Given the description of an element on the screen output the (x, y) to click on. 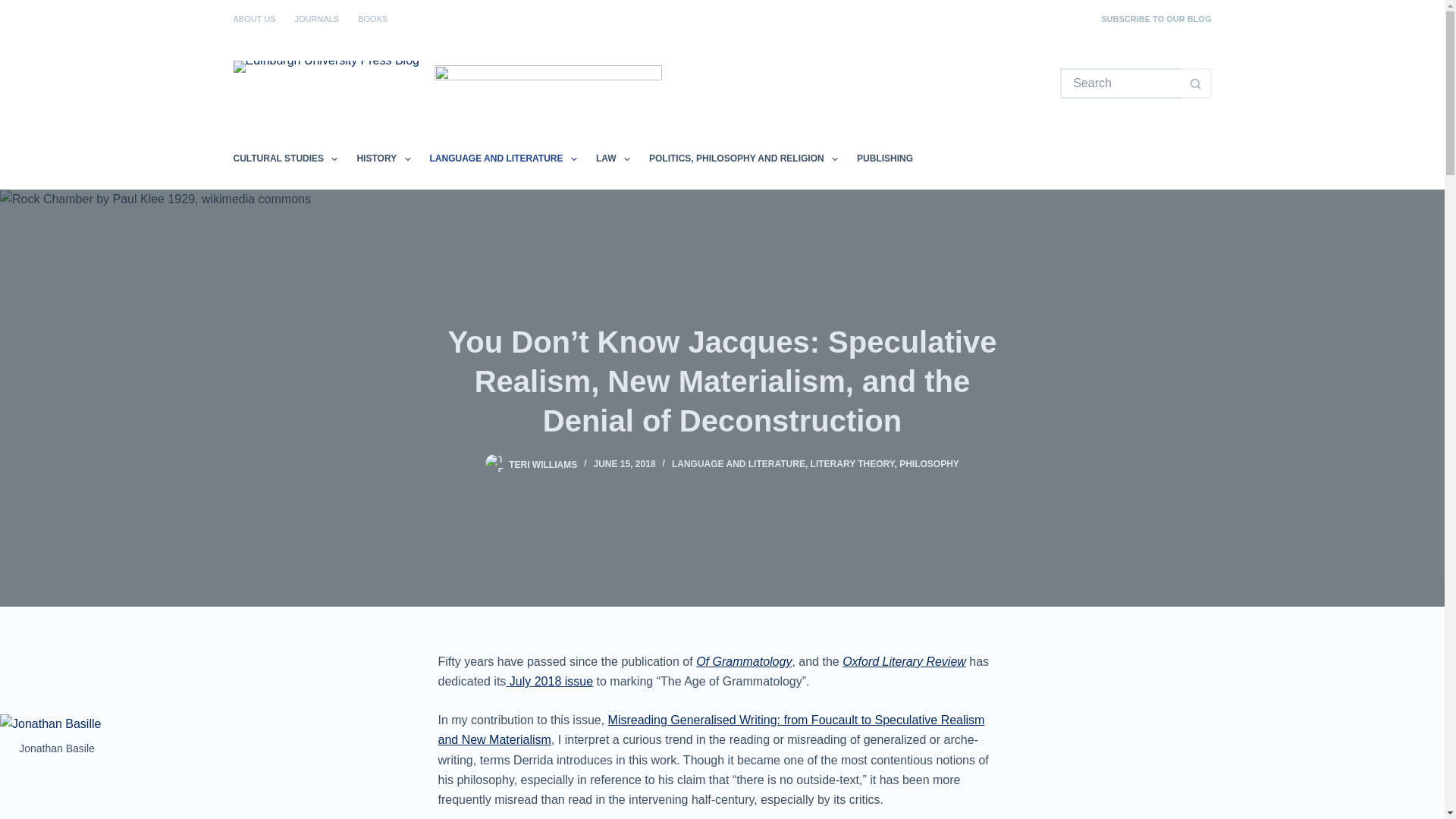
Skip to content (15, 7)
Posts by Teri Williams (542, 463)
Search for... (1119, 82)
